Given the description of an element on the screen output the (x, y) to click on. 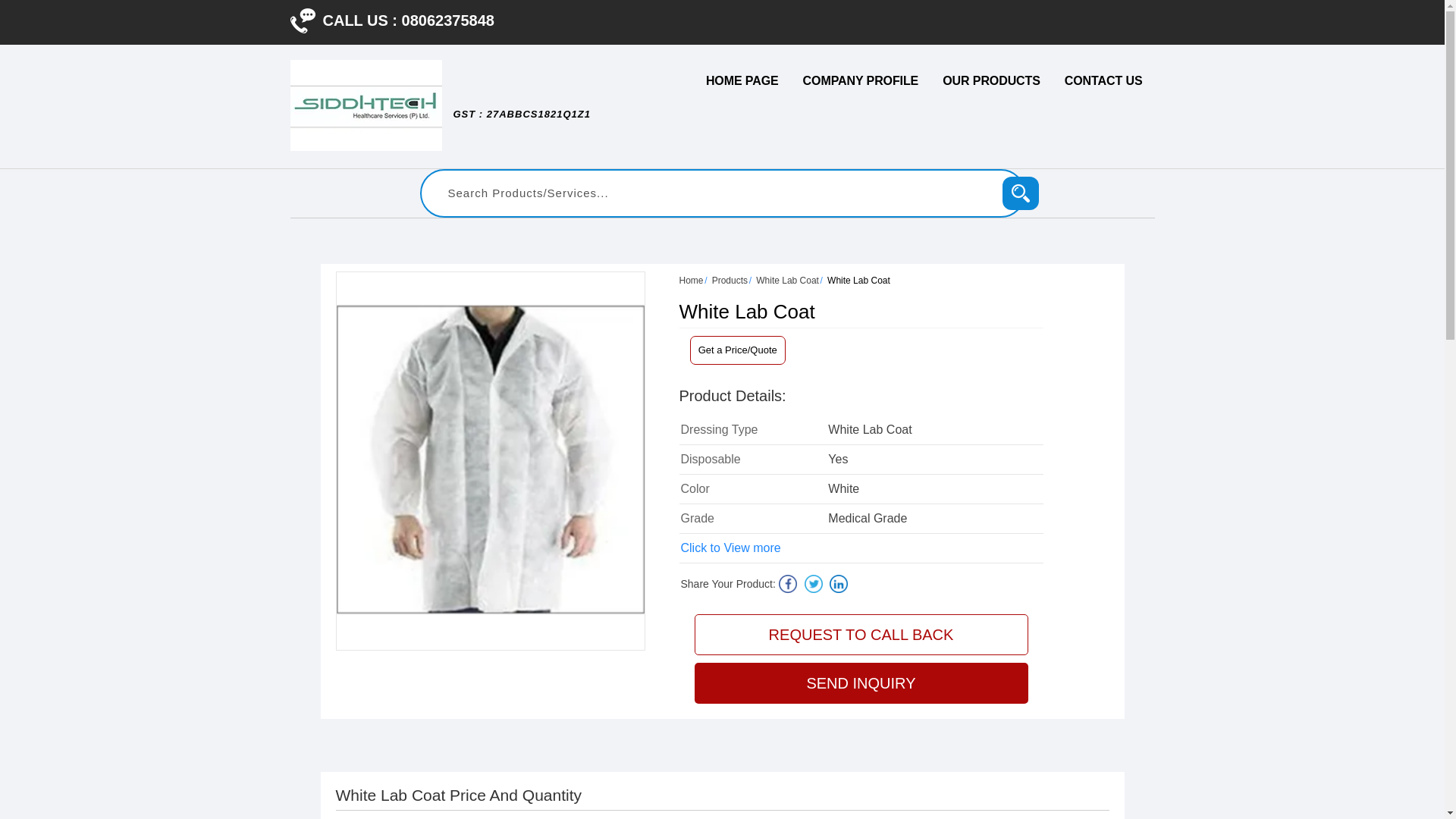
GST : 27ABBCS1821Q1Z1 (521, 121)
Search (1021, 192)
OUR PRODUCTS (991, 81)
CONTACT US (1103, 81)
Call Us (301, 20)
SEND INQUIRY (860, 682)
Products (729, 280)
REQUEST TO CALL BACK (860, 634)
COMPANY PROFILE (860, 81)
HOME PAGE (742, 81)
White Lab Coat (786, 280)
Click to View more (730, 547)
submit (1021, 192)
Home (691, 280)
